Given the description of an element on the screen output the (x, y) to click on. 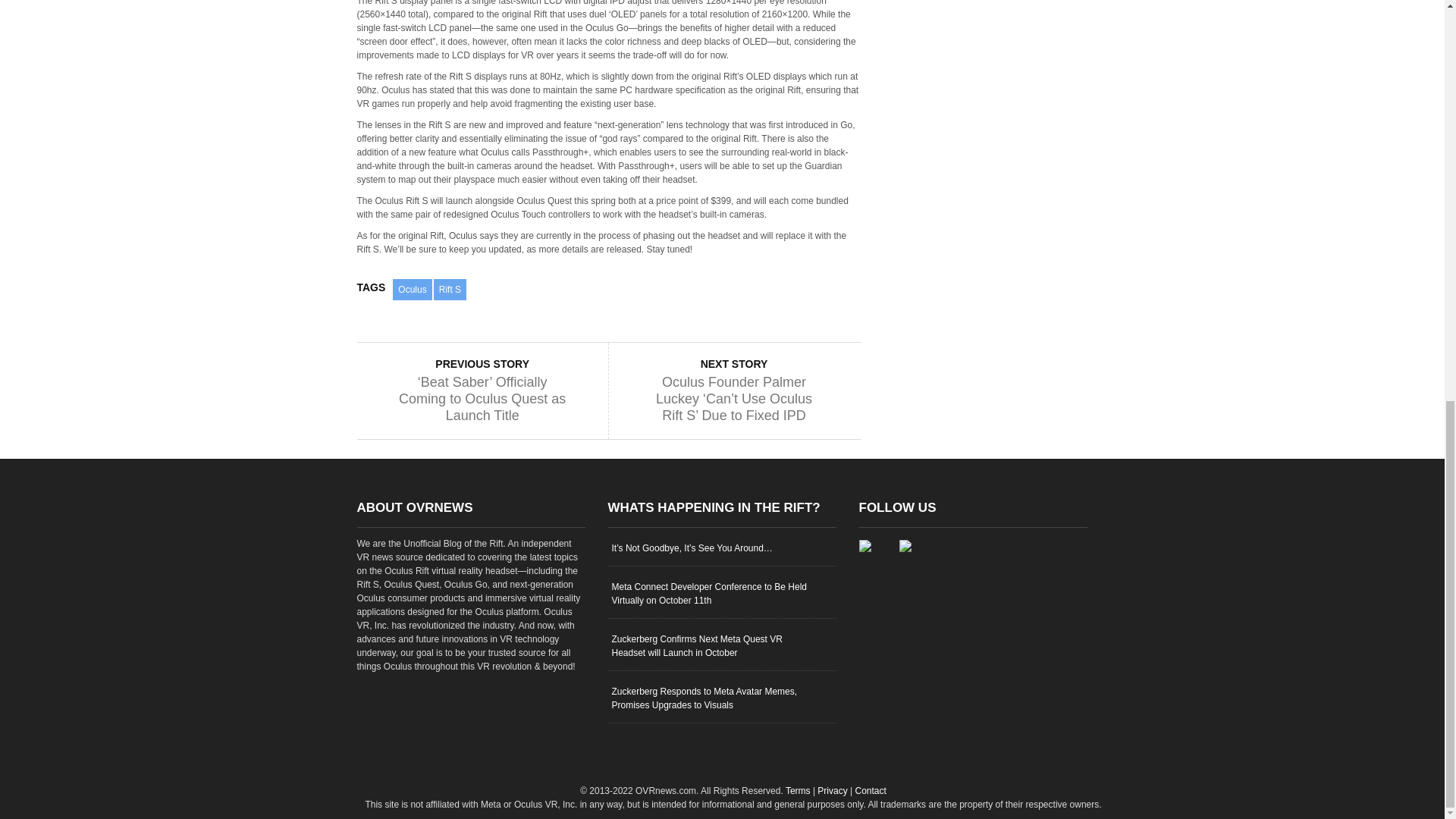
Oculus (411, 289)
Rift S (449, 289)
